Given the description of an element on the screen output the (x, y) to click on. 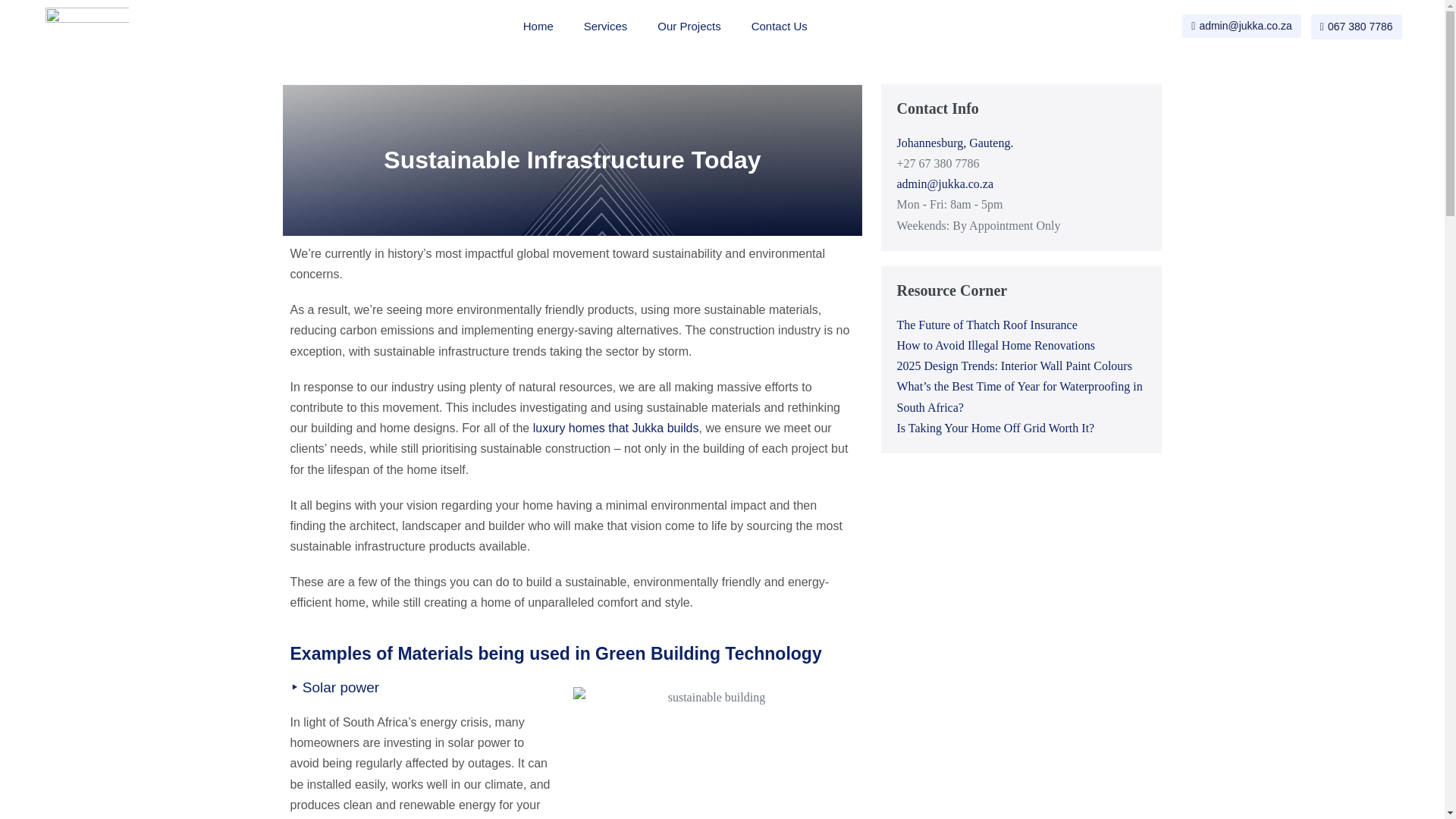
luxury homes (568, 427)
2025 Design Trends: Interior Wall Paint Colours (1013, 365)
The Future of Thatch Roof Insurance (986, 324)
Is Taking Your Home Off Grid Worth It? (995, 427)
Contact Us (779, 26)
Home (538, 26)
067 380 7786 (1356, 26)
Services (606, 26)
Johannesburg, Gauteng. (954, 142)
How to Avoid Illegal Home Renovations (995, 345)
